Given the description of an element on the screen output the (x, y) to click on. 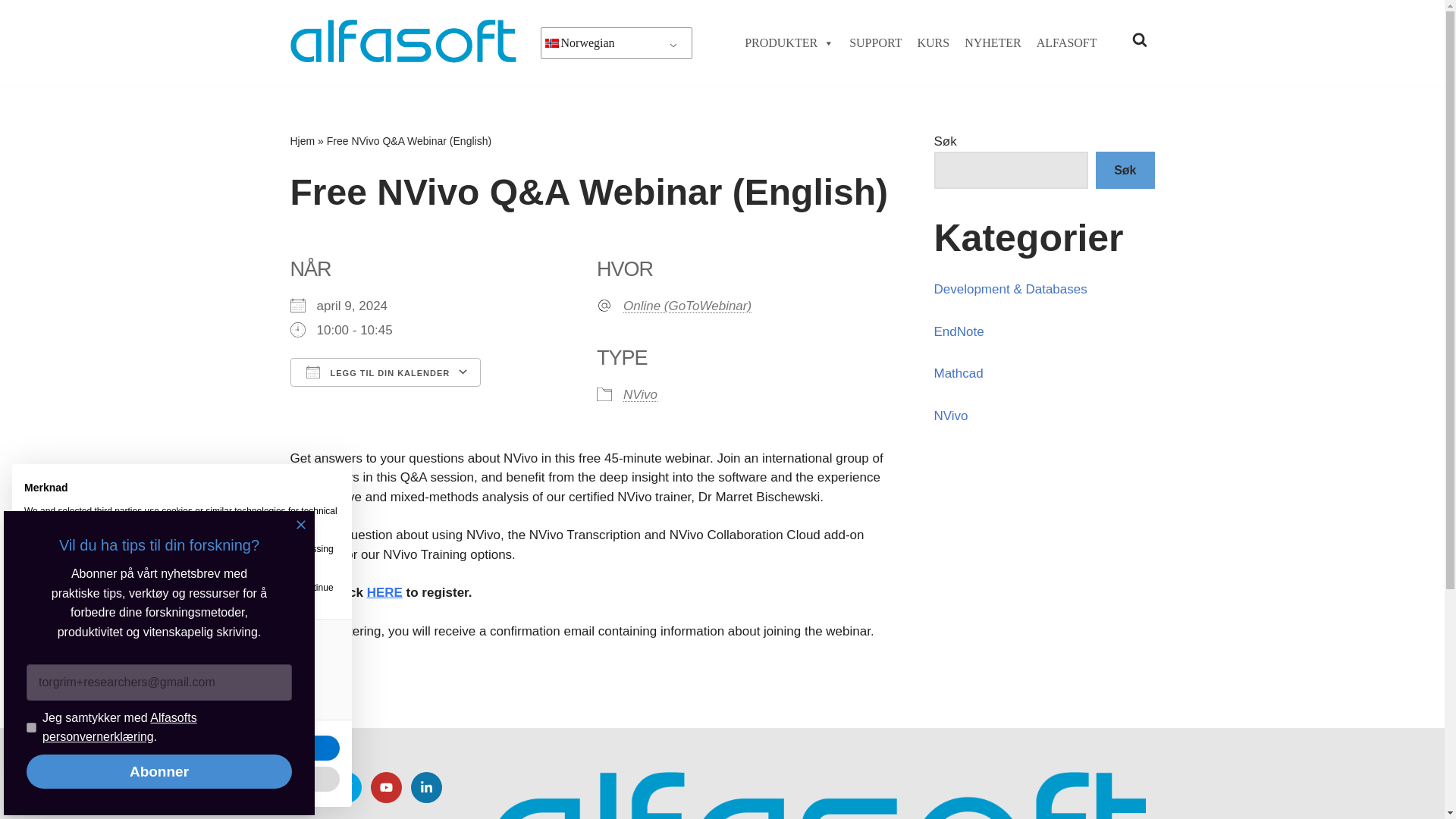
PRODUKTER (788, 43)
false (42, 640)
Hopp til innholdet (11, 31)
Norwegian (550, 42)
false (42, 698)
Norwegian (616, 42)
Abonner (159, 770)
Norwegian (616, 42)
false (42, 669)
